Given the description of an element on the screen output the (x, y) to click on. 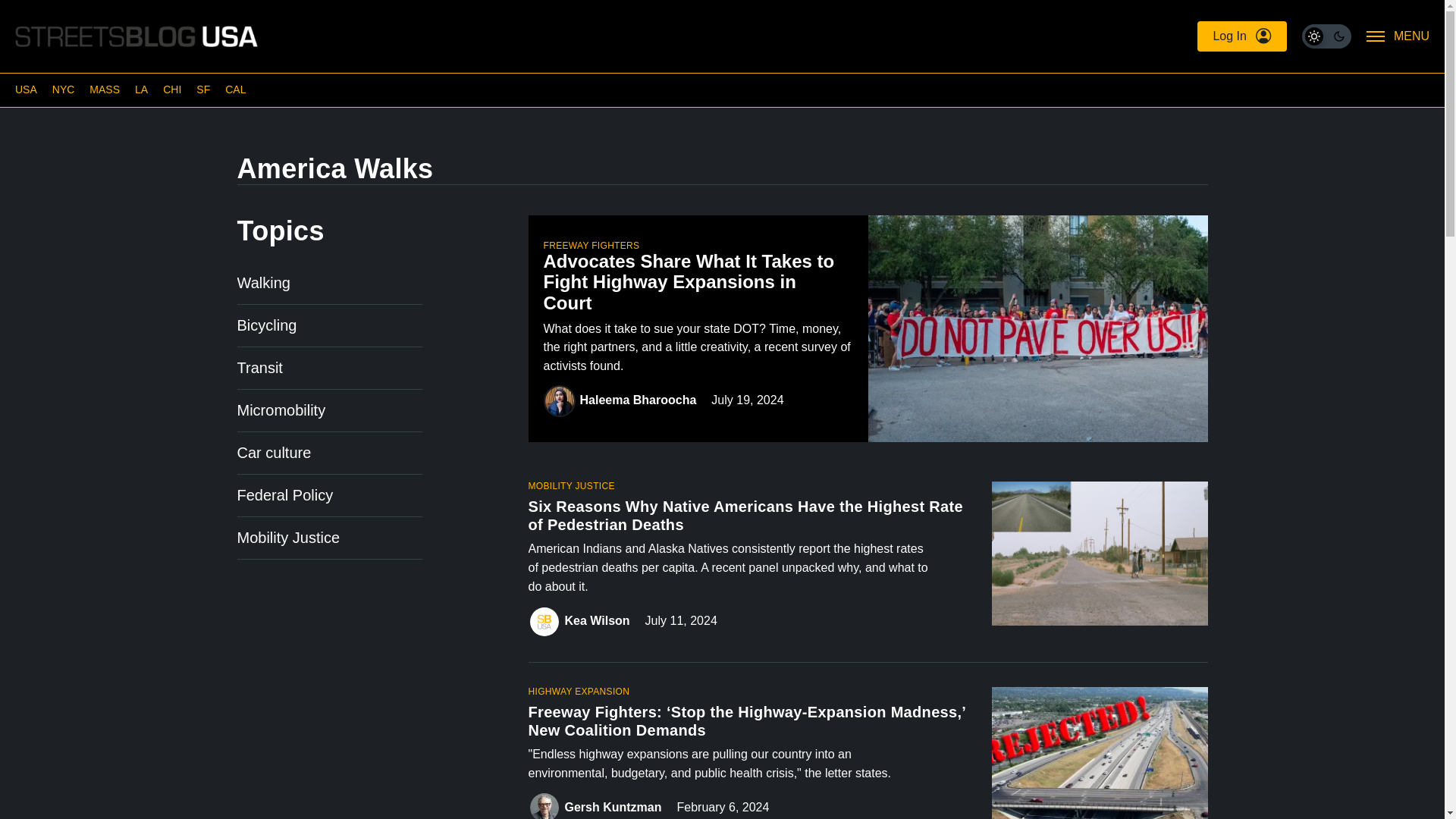
Mobility Justice (287, 537)
Walking (262, 282)
CHI (171, 89)
Micromobility (279, 410)
Car culture (273, 452)
Transit (258, 367)
Federal Policy (284, 494)
Bicycling (266, 324)
MENU (1398, 36)
